Given the description of an element on the screen output the (x, y) to click on. 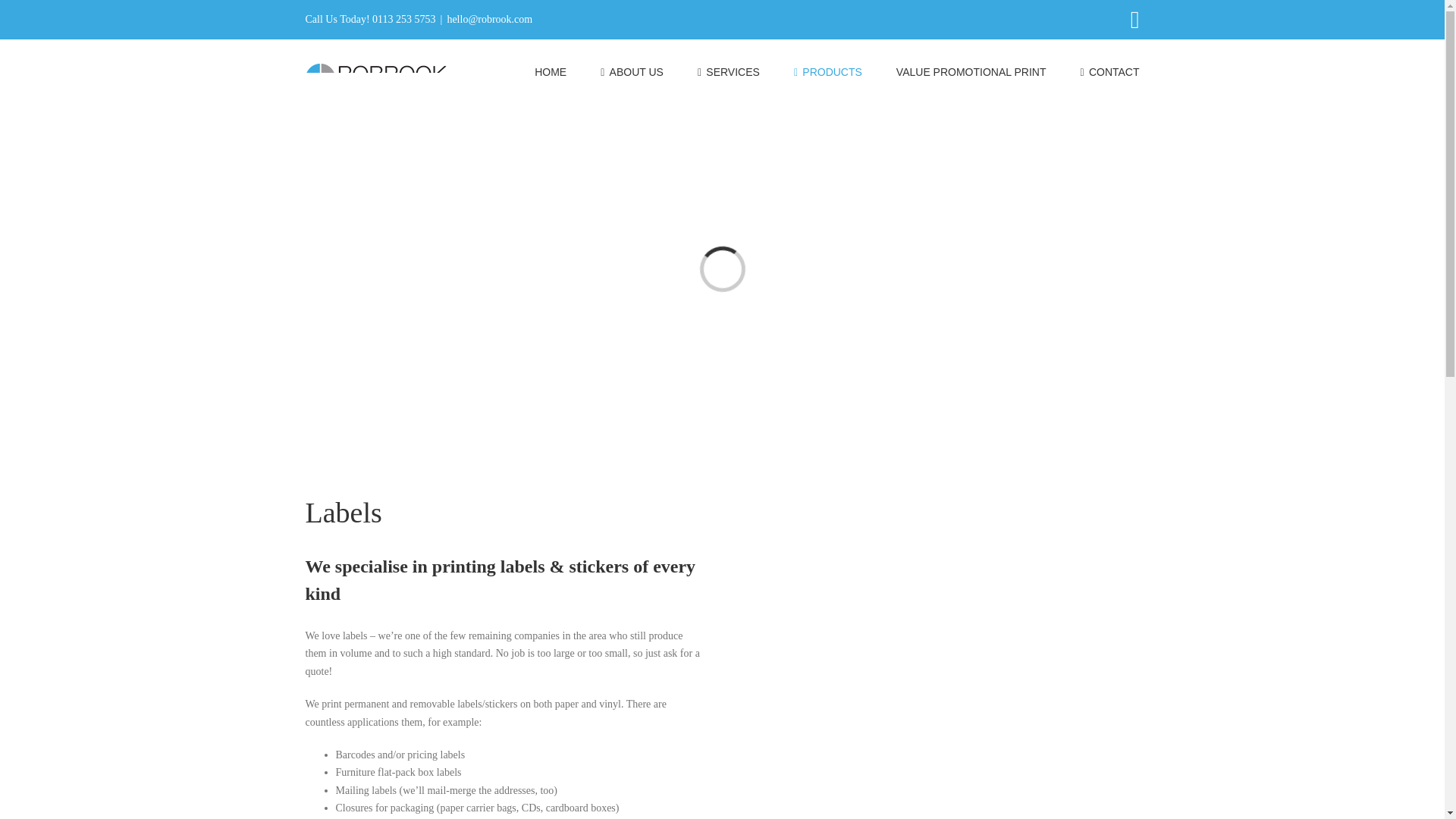
VALUE PROMOTIONAL PRINT (971, 72)
PRODUCTS (827, 72)
ABOUT US (631, 72)
SERVICES (728, 72)
CONTACT (1109, 72)
